Given the description of an element on the screen output the (x, y) to click on. 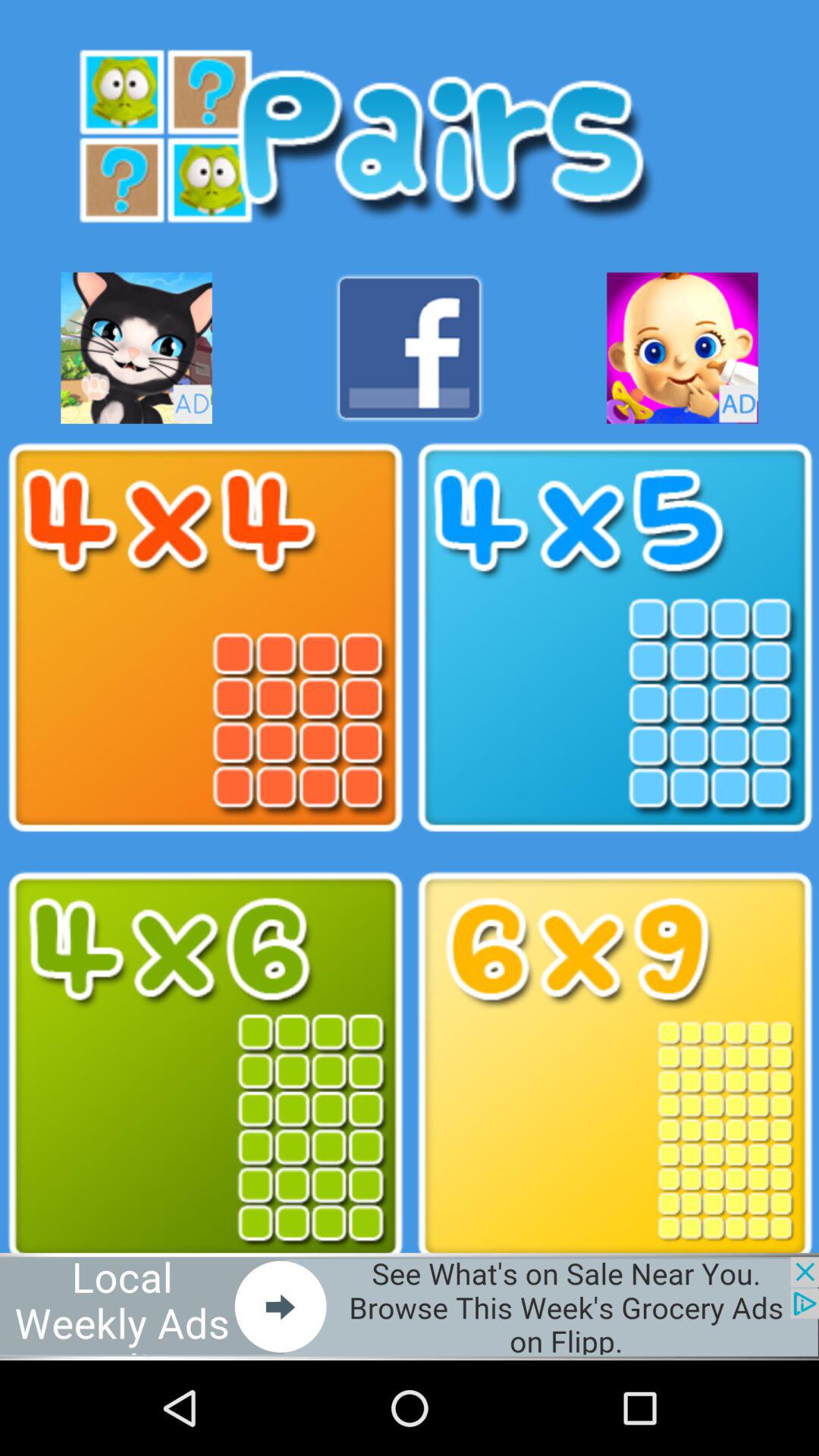
game (614, 637)
